Given the description of an element on the screen output the (x, y) to click on. 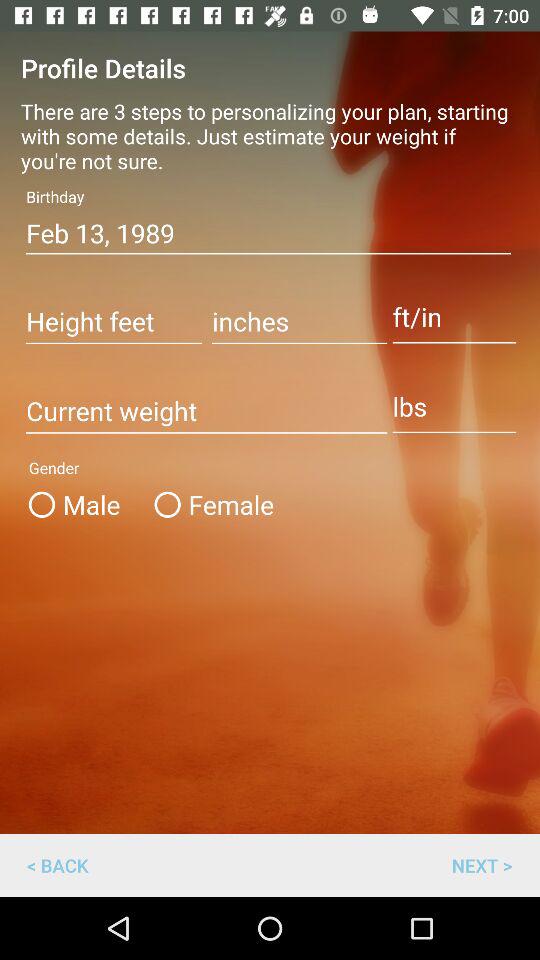
choose the item to the right of male item (210, 504)
